Given the description of an element on the screen output the (x, y) to click on. 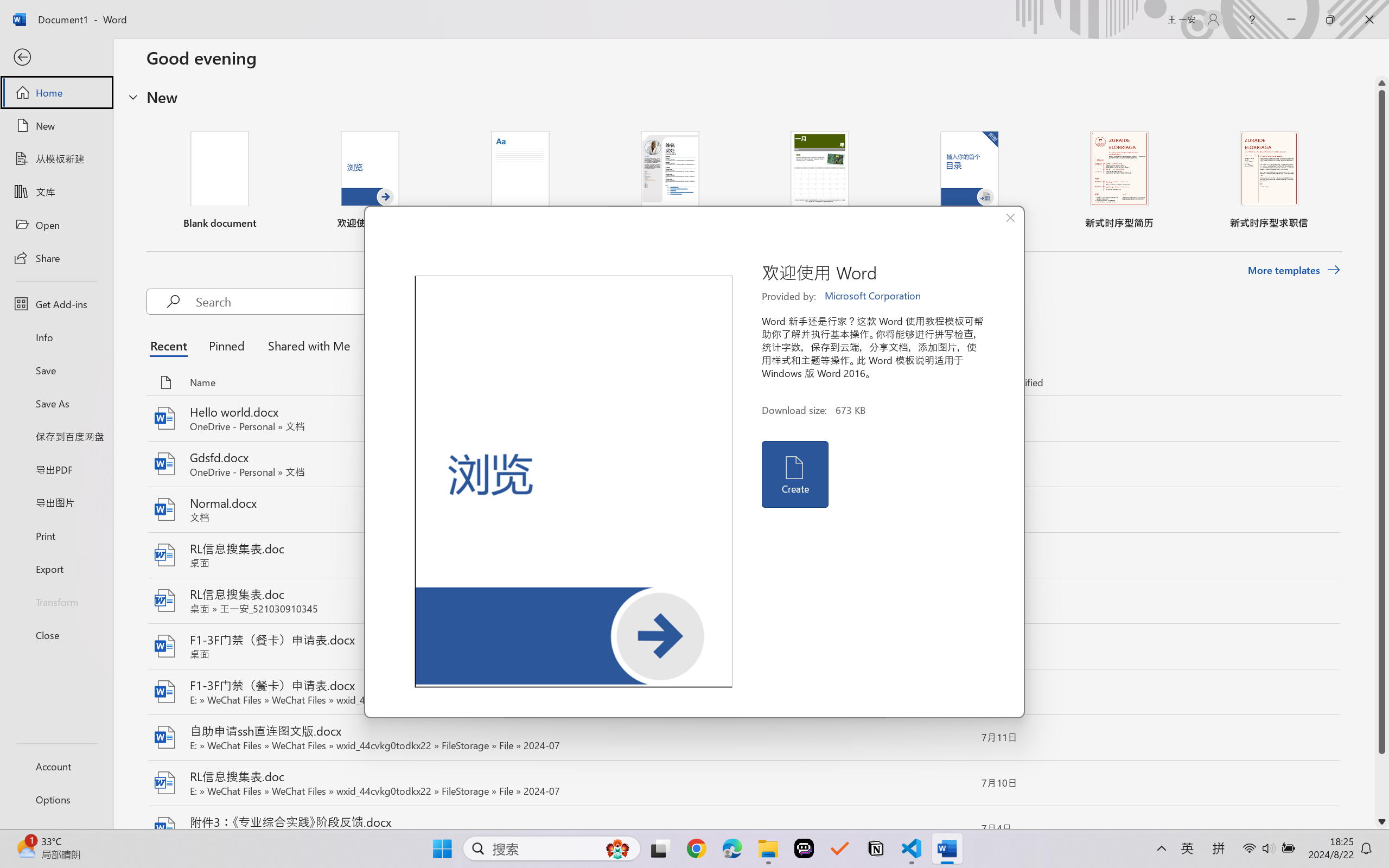
Hello world.docx (743, 418)
Print (56, 535)
Info (56, 337)
Save As (56, 403)
Export (56, 568)
Options (56, 798)
Create (794, 473)
Line down (1382, 821)
Transform (56, 601)
